Given the description of an element on the screen output the (x, y) to click on. 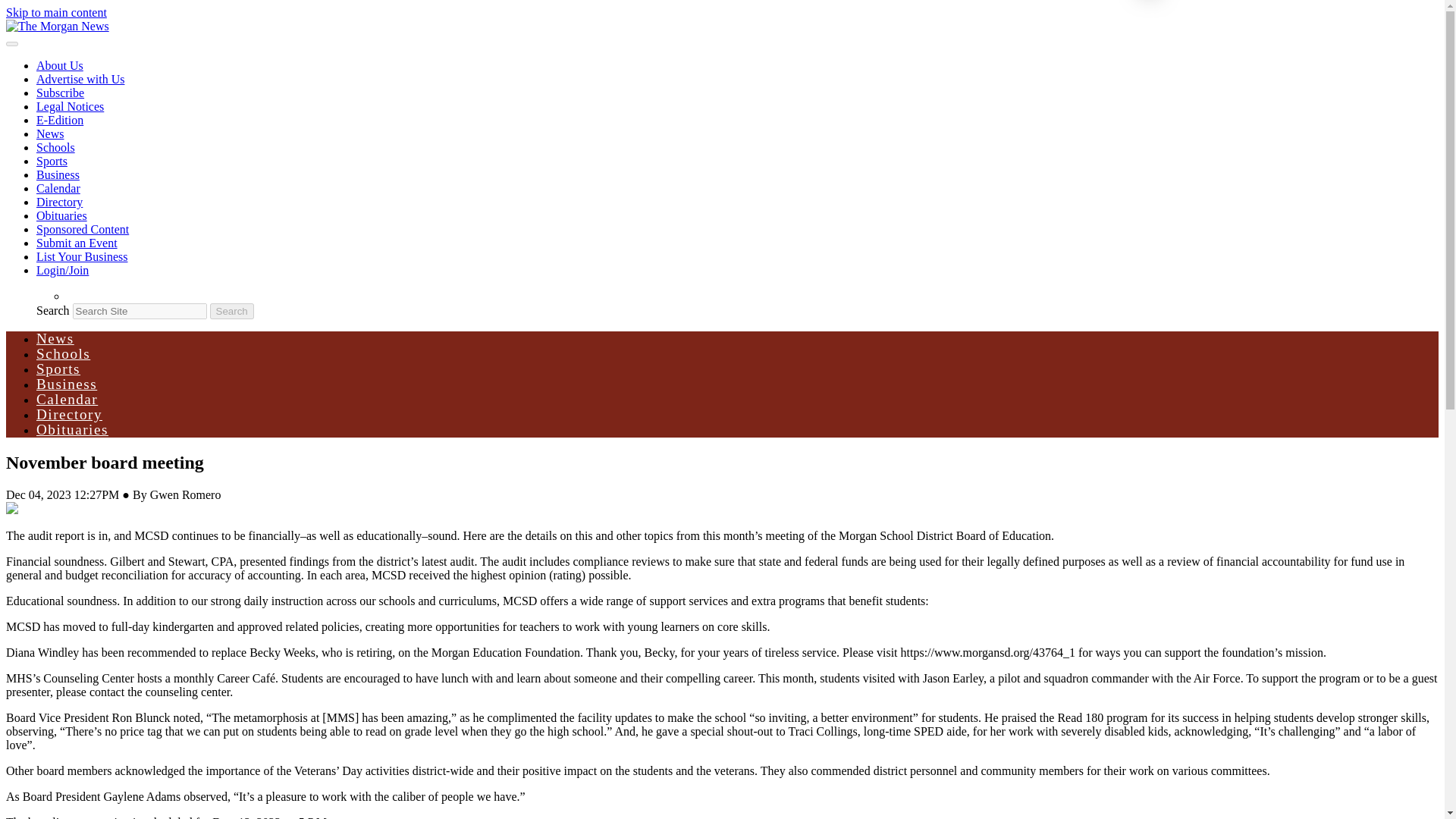
Submit an Event (76, 242)
Search (231, 311)
Subscribe (60, 92)
Advertise with Us (79, 78)
Directory (59, 201)
News (50, 133)
Schools (55, 146)
Sports (58, 368)
Sponsored Content (82, 228)
Sports (51, 160)
